Given the description of an element on the screen output the (x, y) to click on. 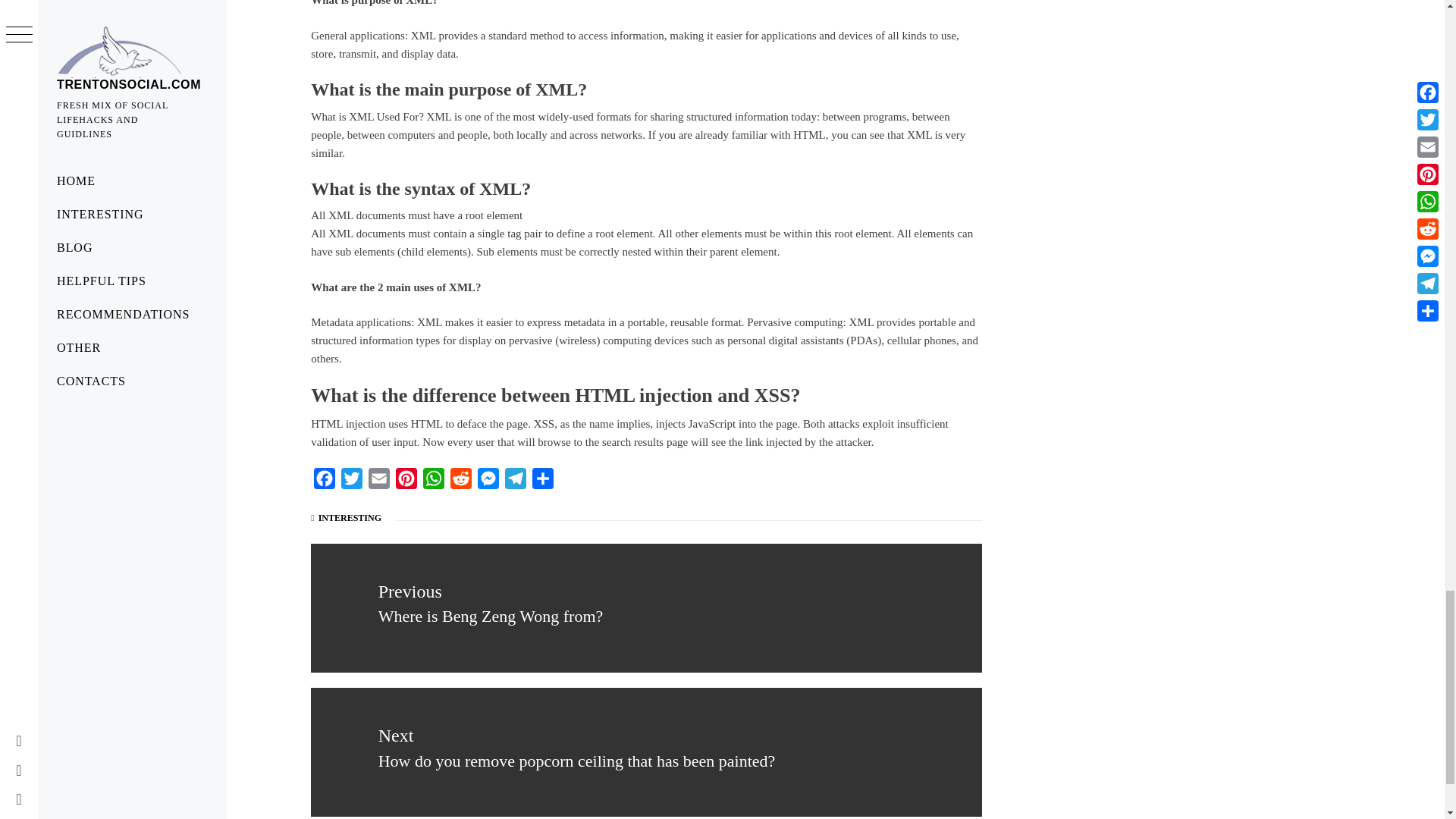
Email (379, 481)
Twitter (351, 481)
Facebook (324, 481)
Twitter (351, 481)
Facebook (324, 481)
